Given the description of an element on the screen output the (x, y) to click on. 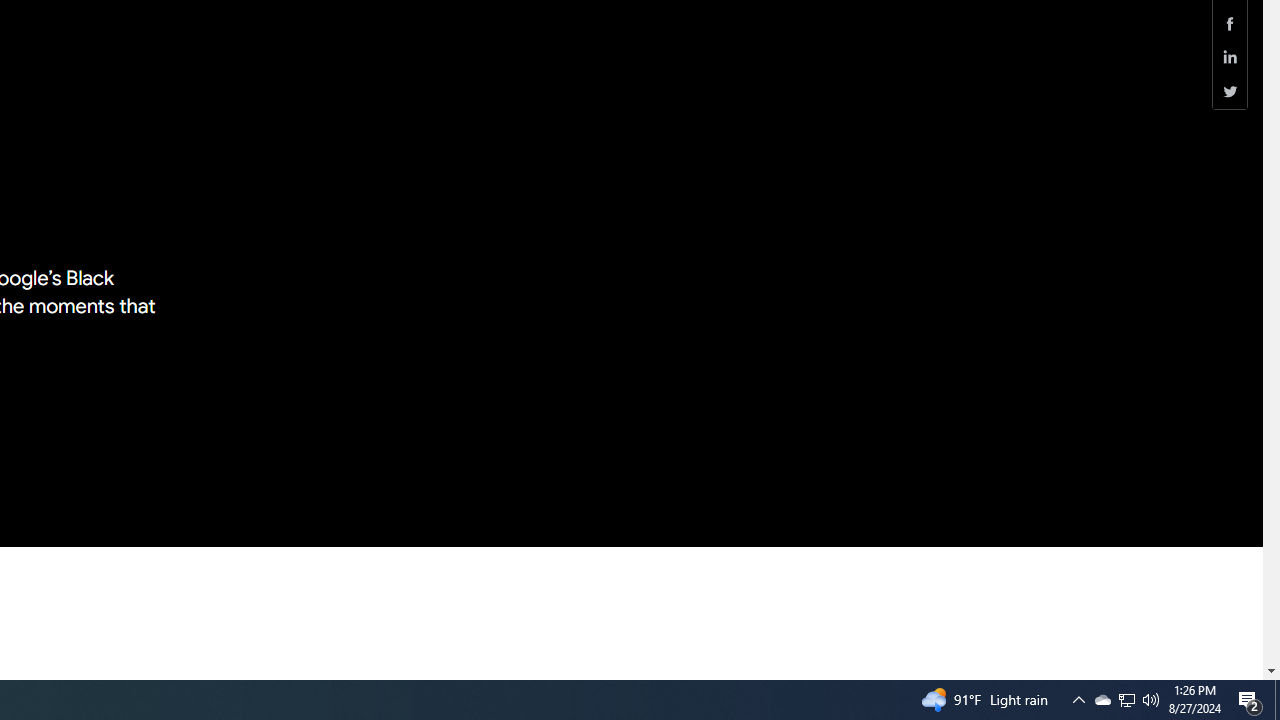
Share this page (Facebook) (1230, 23)
Share this page (Twitter) (1230, 91)
Share this page (LinkedIn) (1230, 57)
